Given the description of an element on the screen output the (x, y) to click on. 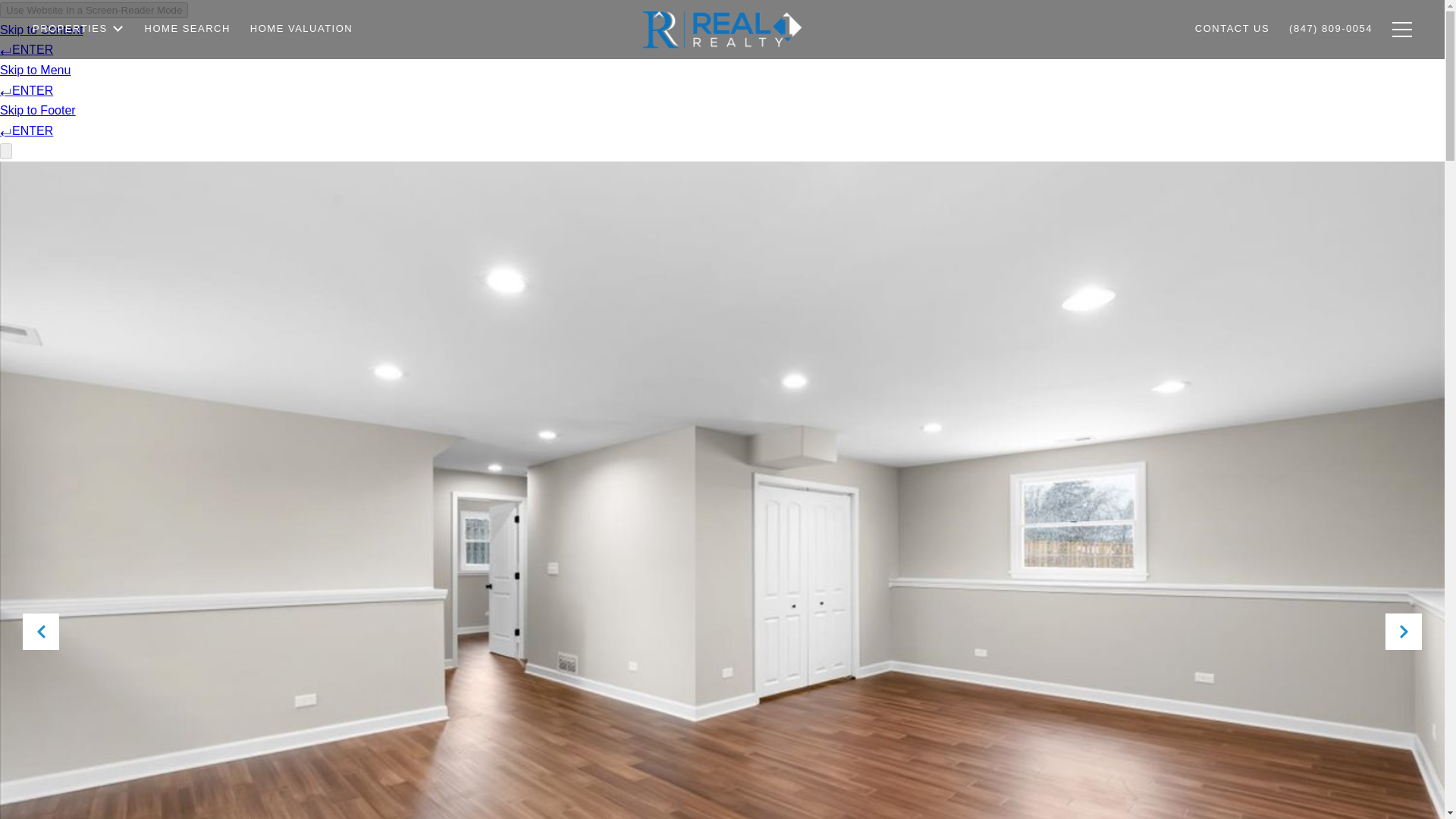
HOME SEARCH (187, 36)
PROPERTIES (79, 42)
HOME VALUATION (301, 34)
CONTACT US (1232, 33)
